Given the description of an element on the screen output the (x, y) to click on. 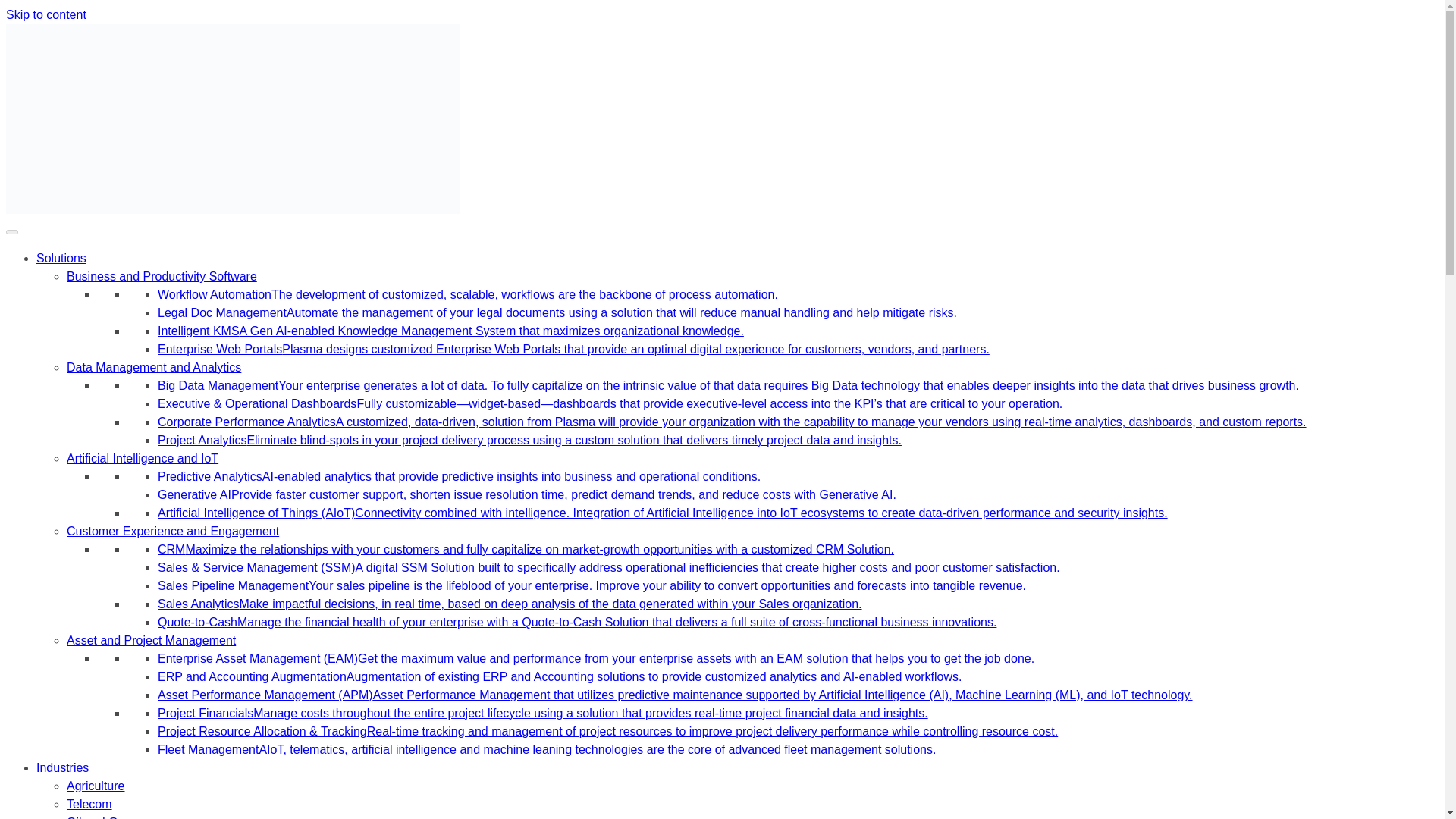
Data Management and Analytics (153, 367)
Artificial Intelligence and IoT (142, 458)
Solutions (60, 257)
